Given the description of an element on the screen output the (x, y) to click on. 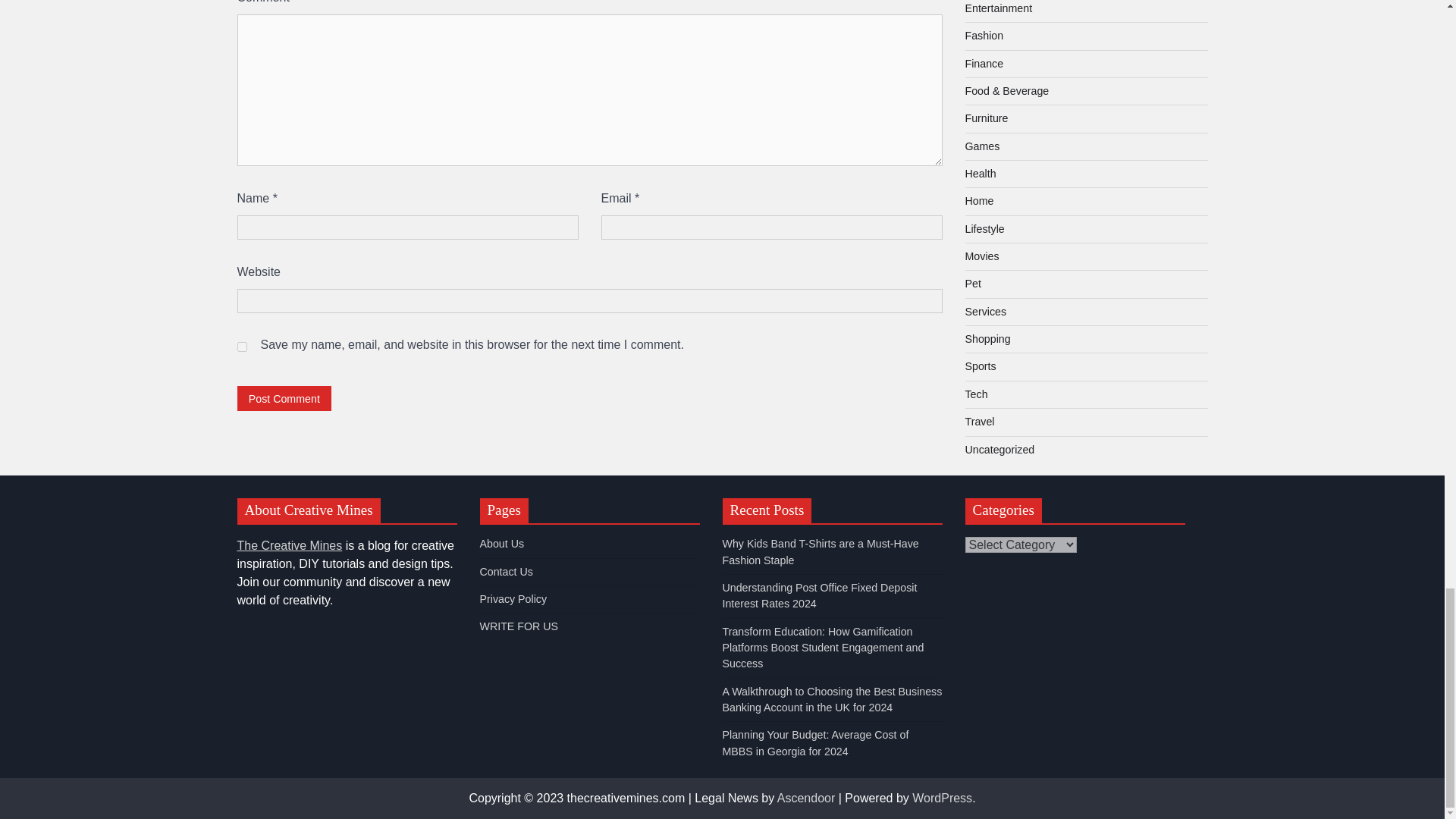
Post Comment (283, 398)
Post Comment (283, 398)
yes (240, 347)
